Given the description of an element on the screen output the (x, y) to click on. 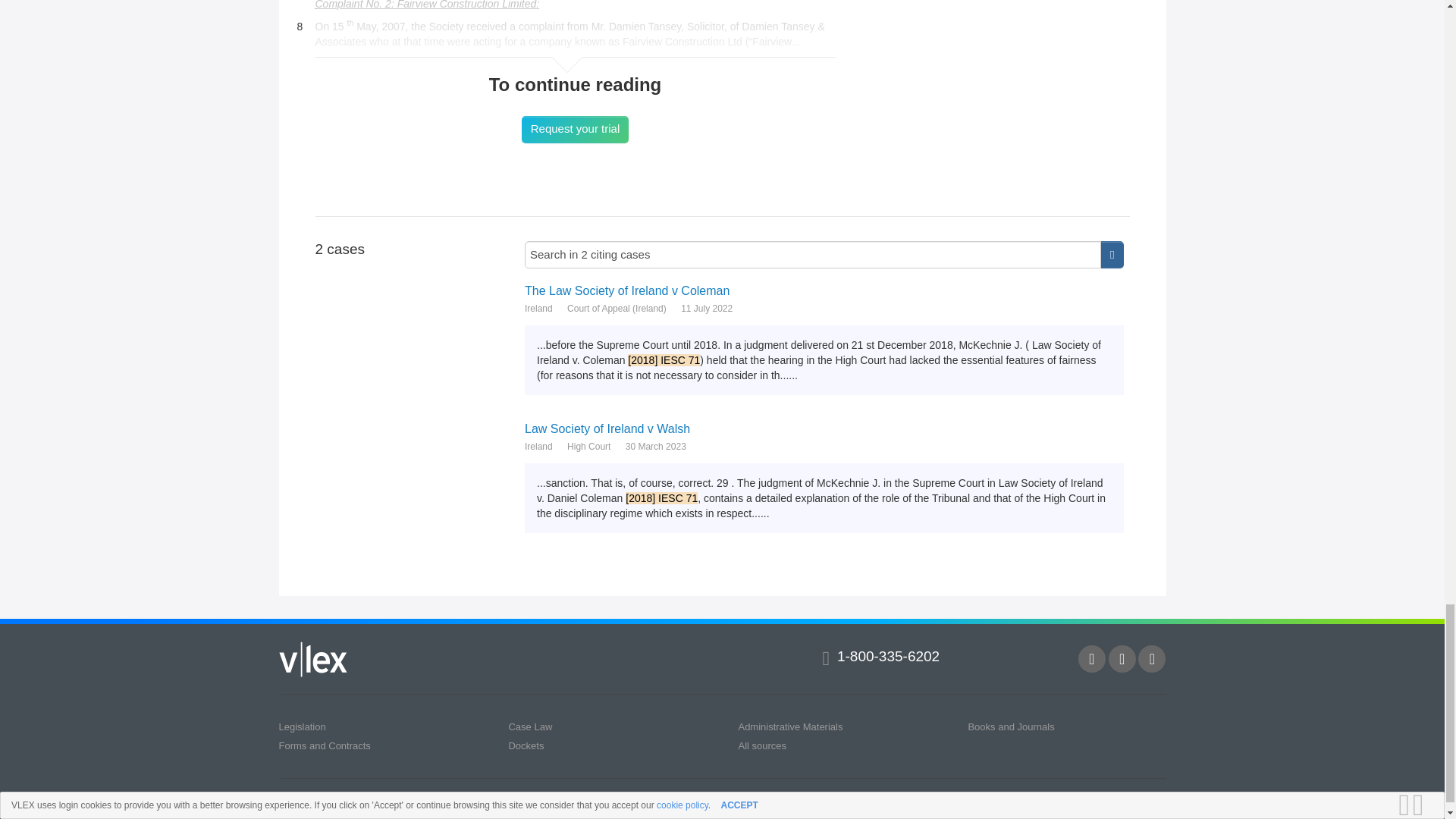
The Law Society of Ireland v Coleman (824, 290)
Administrative Materials (790, 726)
Legislation (302, 726)
Law Society of Ireland v Walsh (824, 428)
11 July 2022 (706, 307)
Ireland (538, 307)
Administrative Materials (790, 726)
Forms and Contracts (325, 745)
Ireland (538, 445)
High Court (588, 445)
All sources (762, 745)
Law Society of Ireland v Walsh (824, 428)
Dockets (525, 745)
All sources (762, 745)
Terms of use (305, 801)
